Given the description of an element on the screen output the (x, y) to click on. 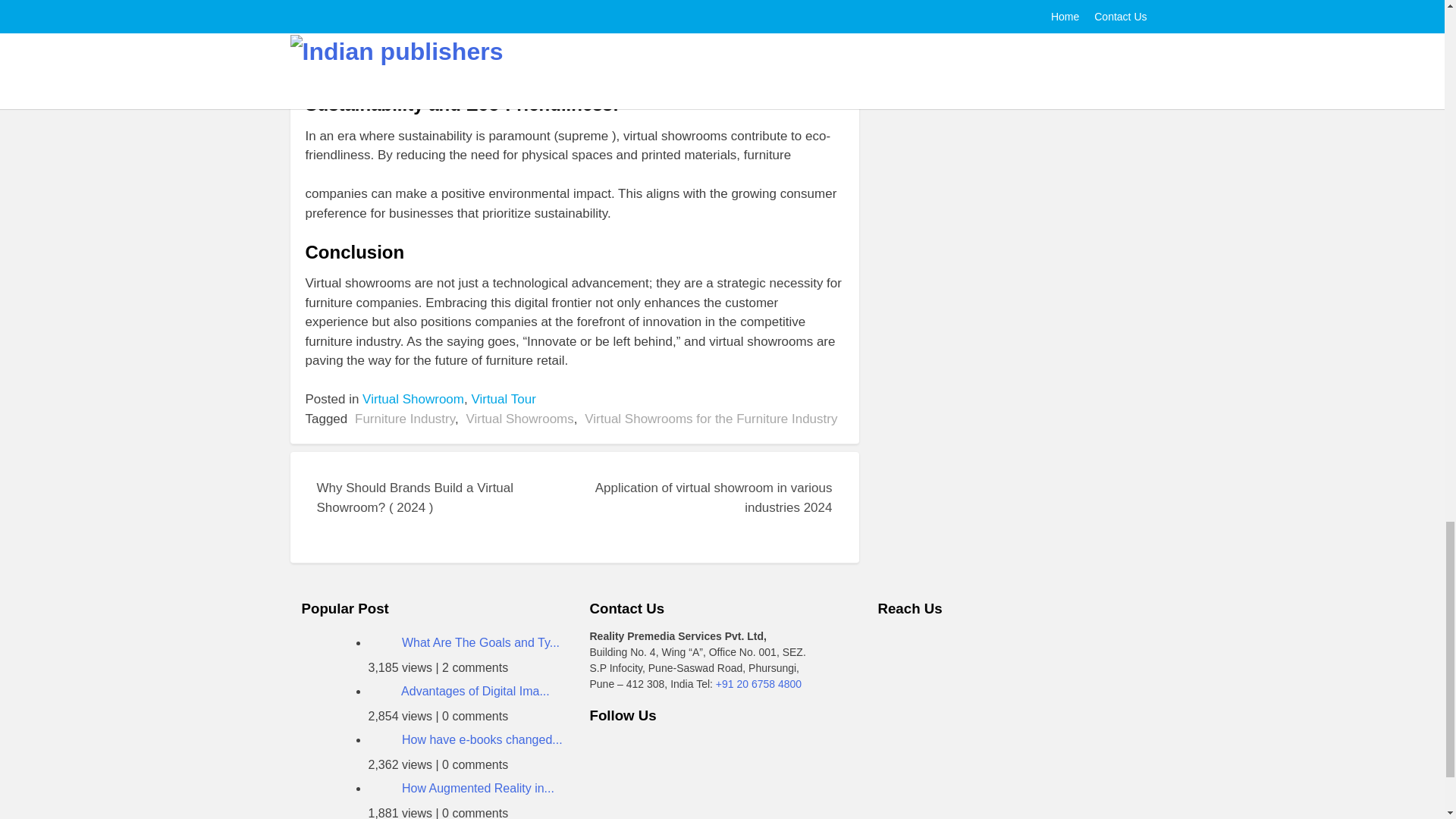
Furniture Industry (404, 418)
How have e-books changed the publishing industry. (481, 739)
What Are The Goals and Types Of Image Processing? (480, 642)
What Are The Goals and Ty... (480, 642)
Advantages of Digital Ima... (475, 690)
Virtual Showrooms for the Furniture Industry (711, 418)
Advantages of Digital Image Processing (475, 690)
How have e-books changed the publishing industry. (383, 739)
How Augmented Reality in... (477, 788)
Virtual Tour (502, 399)
Application of virtual showroom in various industries 2024 (703, 507)
What Are The Goals and Types Of Image Processing? (383, 642)
Virtual Showroom (413, 399)
